Given the description of an element on the screen output the (x, y) to click on. 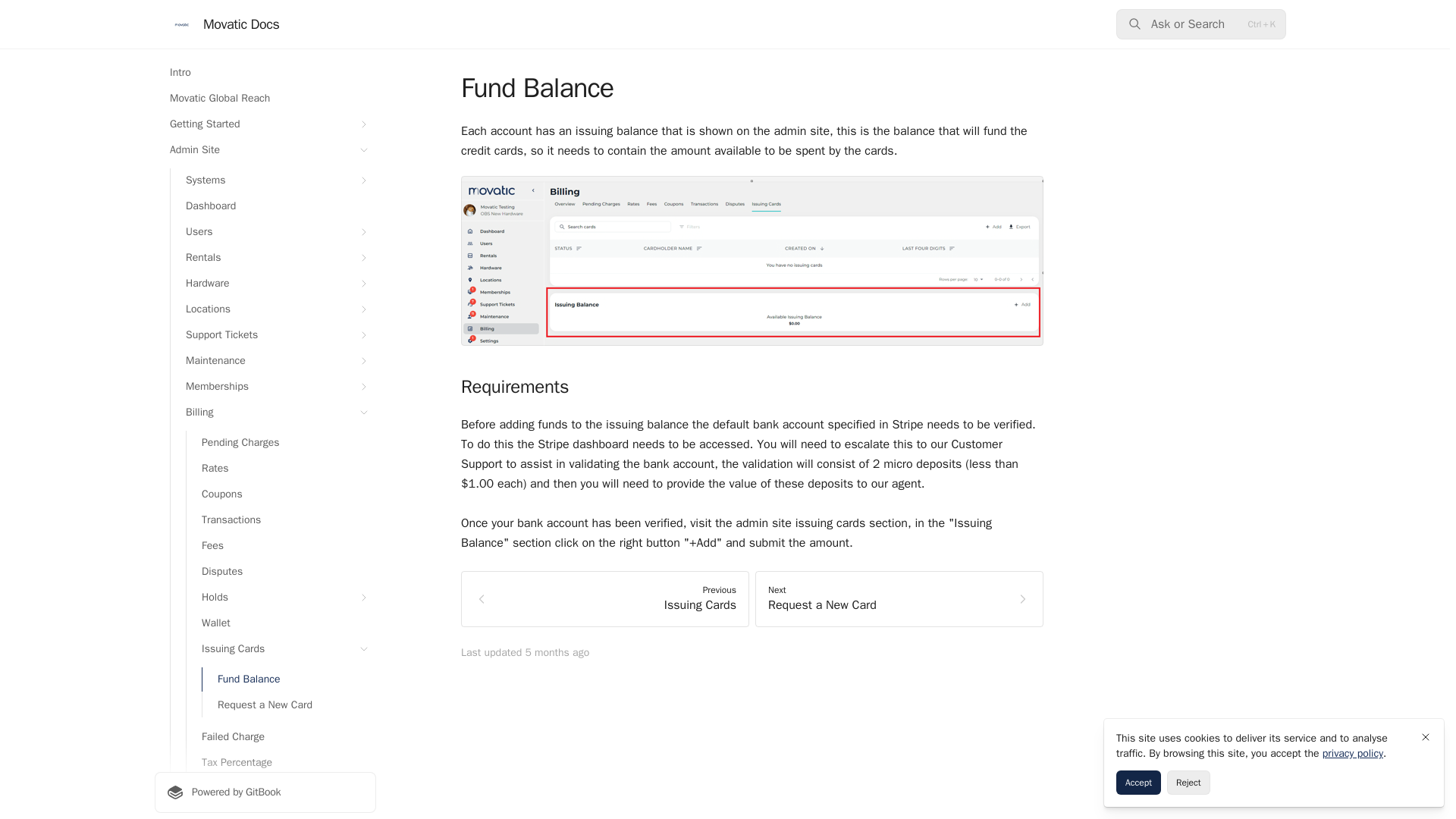
Movatic Global Reach (264, 98)
Admin Site (264, 150)
Close (1425, 737)
Dashboard (272, 206)
Intro (264, 72)
Users (272, 232)
Getting Started (264, 124)
Movatic Docs (224, 24)
Systems (272, 180)
Rentals (272, 257)
